Given the description of an element on the screen output the (x, y) to click on. 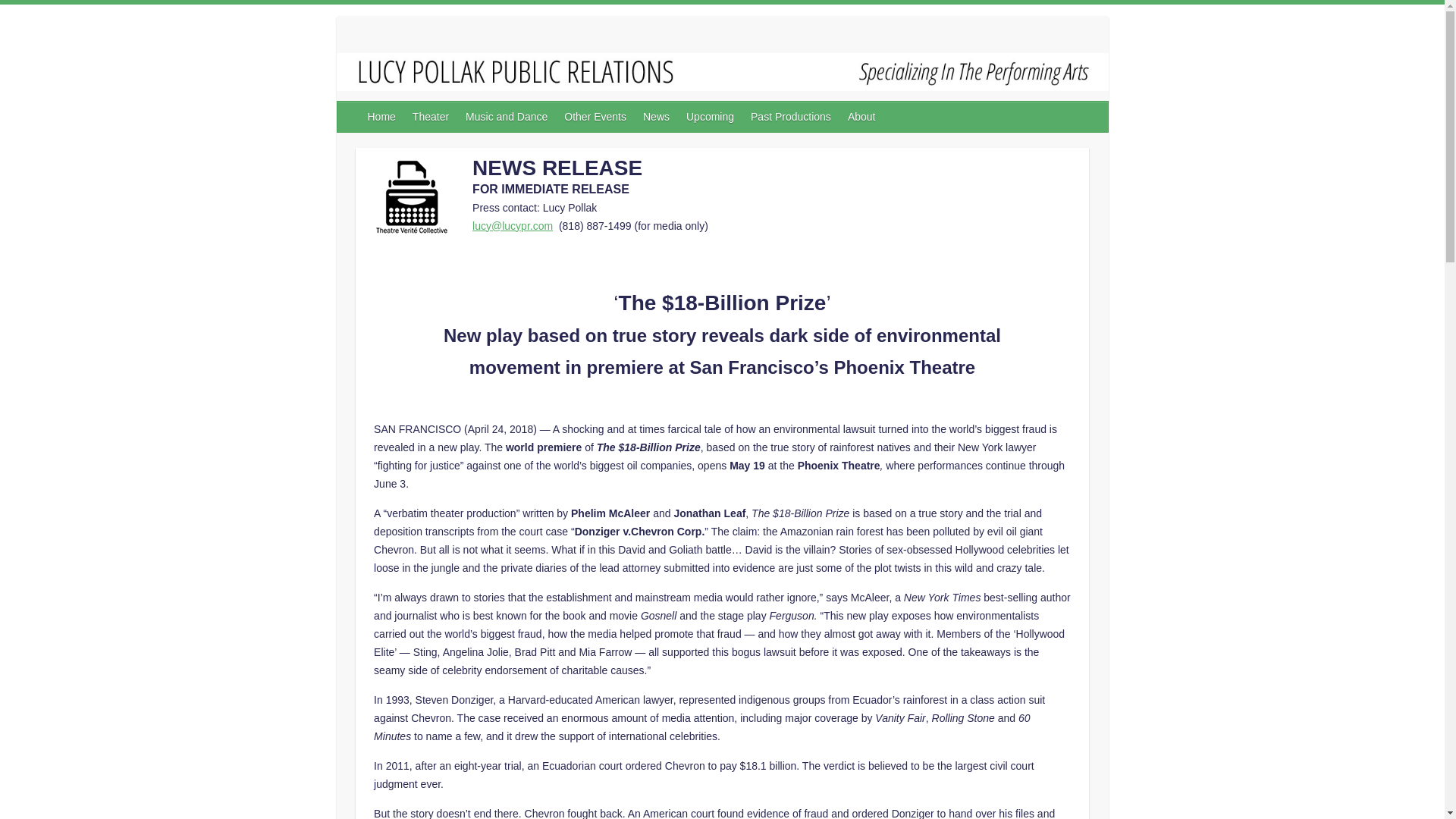
Home (381, 116)
Other Events (595, 116)
News (656, 116)
Music and Dance (507, 116)
Theater (431, 116)
